Given the description of an element on the screen output the (x, y) to click on. 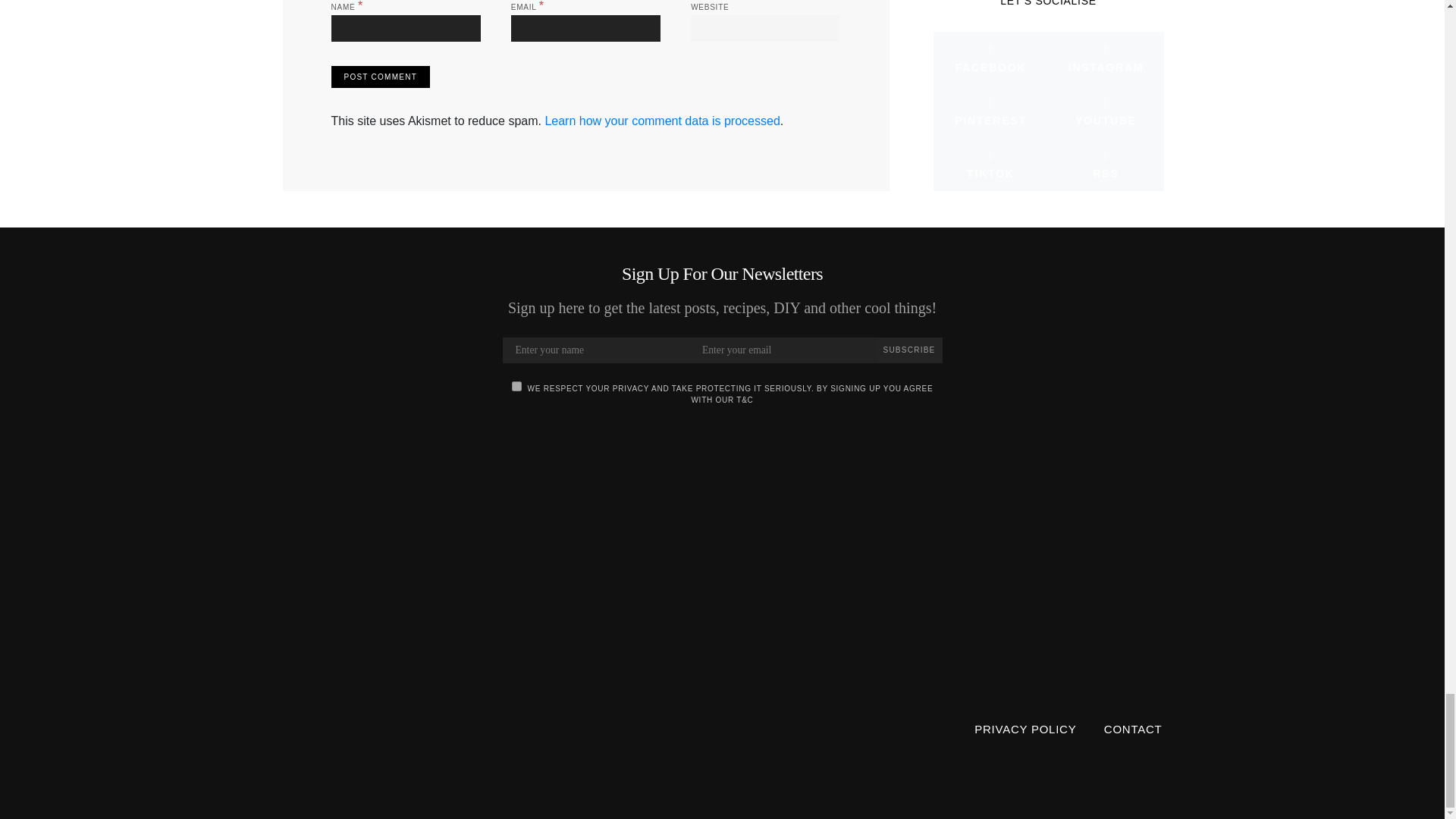
on (516, 386)
Post Comment (379, 76)
